Given the description of an element on the screen output the (x, y) to click on. 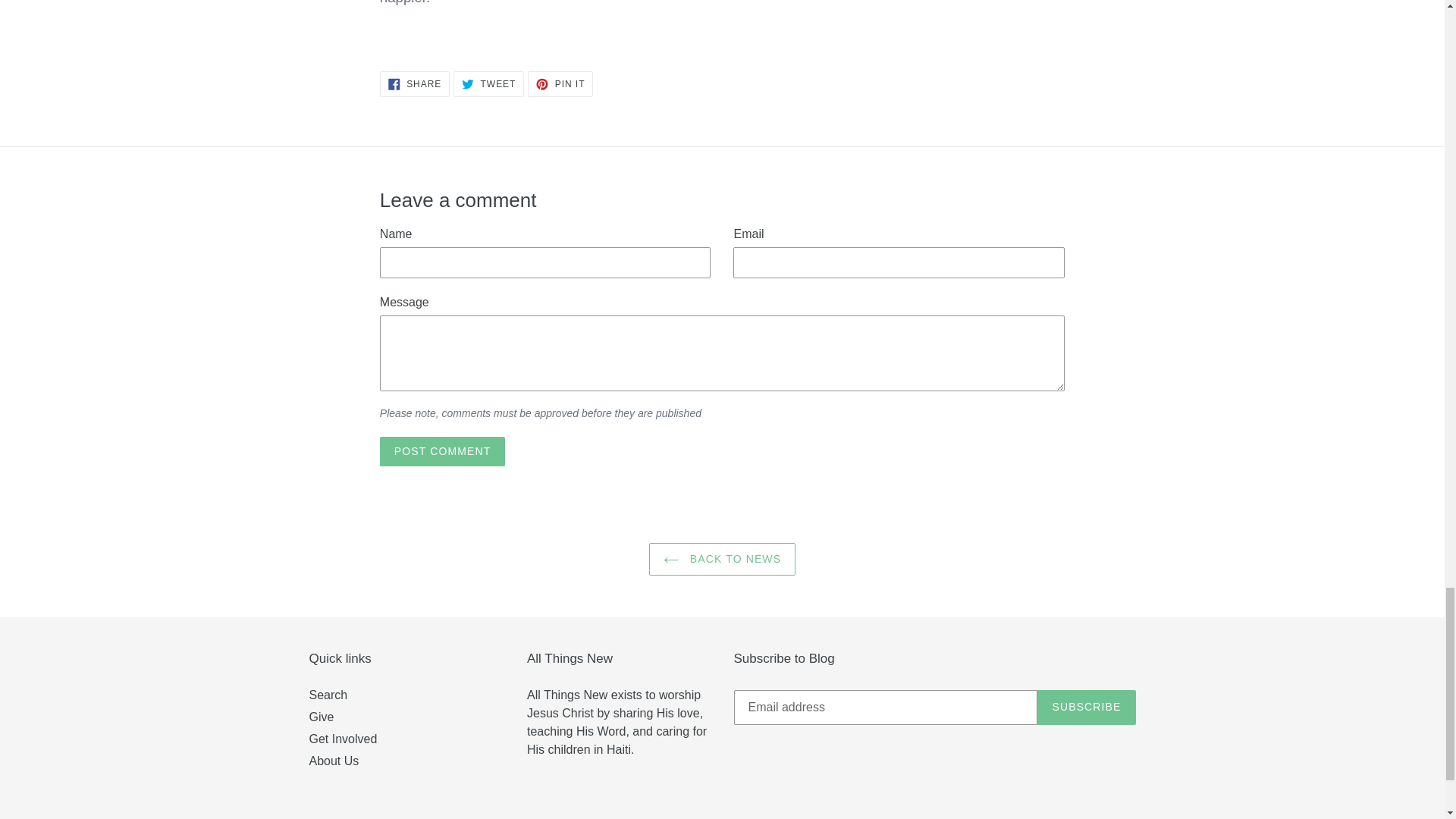
Post comment (442, 451)
